Given the description of an element on the screen output the (x, y) to click on. 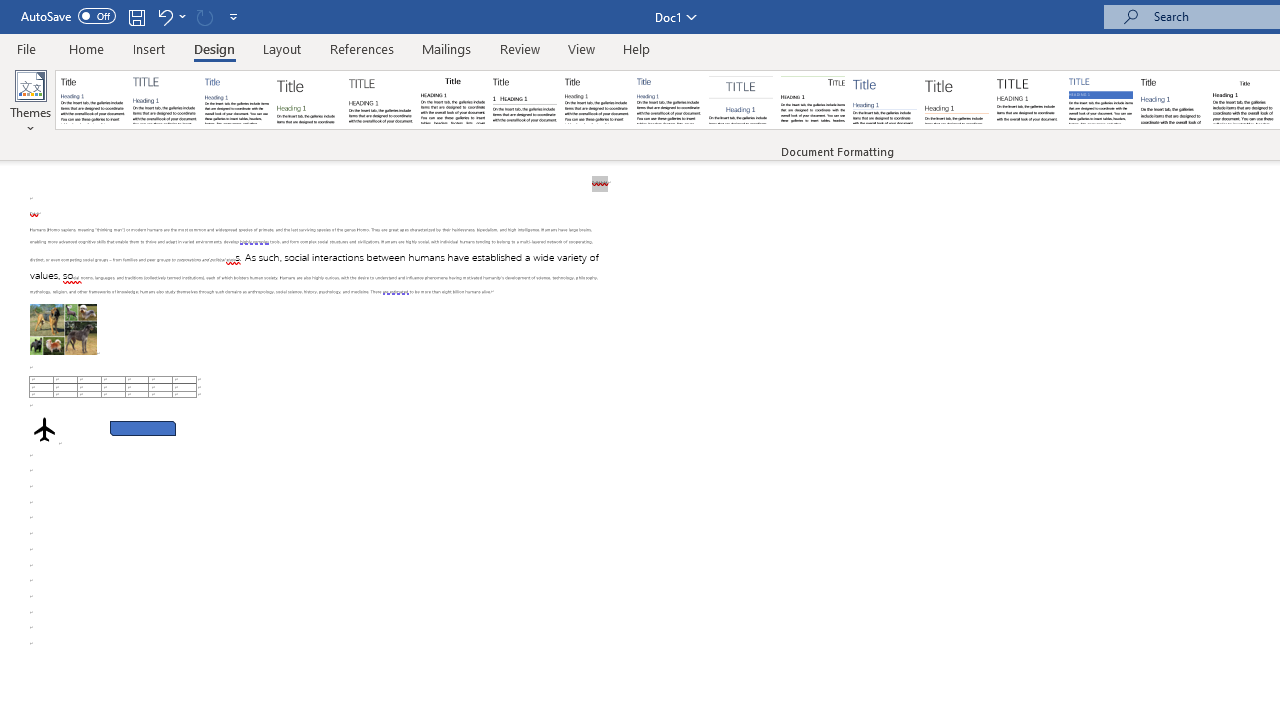
Rectangle: Diagonal Corners Snipped 2 (143, 428)
Lines (Simple) (884, 100)
Basic (Simple) (236, 100)
Minimalist (1028, 100)
Shaded (1100, 100)
Black & White (Word 2013) (596, 100)
Airplane with solid fill (43, 429)
Word (1172, 100)
Black & White (Capitalized) (381, 100)
